Given the description of an element on the screen output the (x, y) to click on. 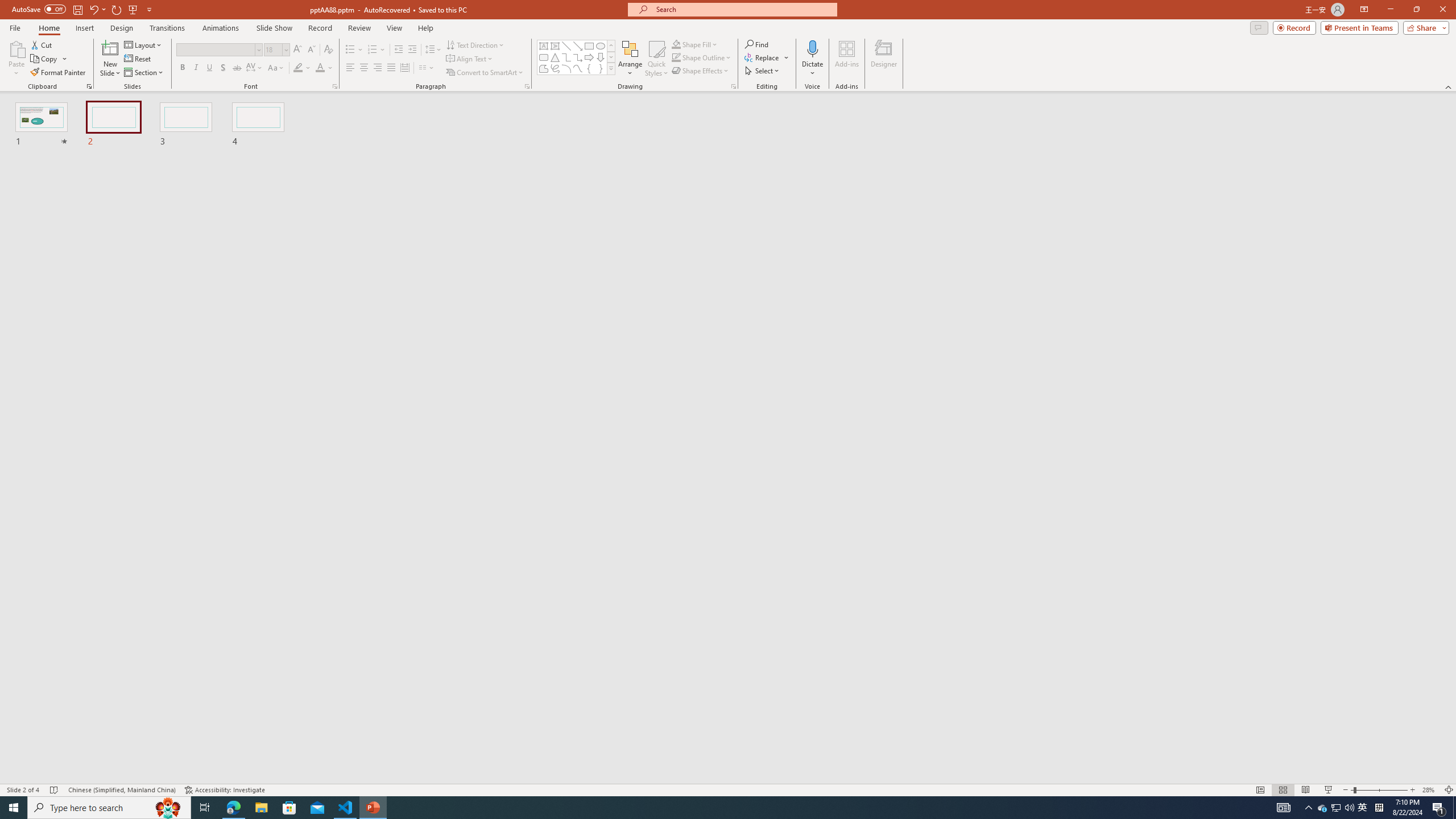
Arrow: Down (600, 57)
Zoom 28% (1430, 790)
Decrease Font Size (310, 49)
AutomationID: ShapesInsertGallery (576, 57)
